Given the description of an element on the screen output the (x, y) to click on. 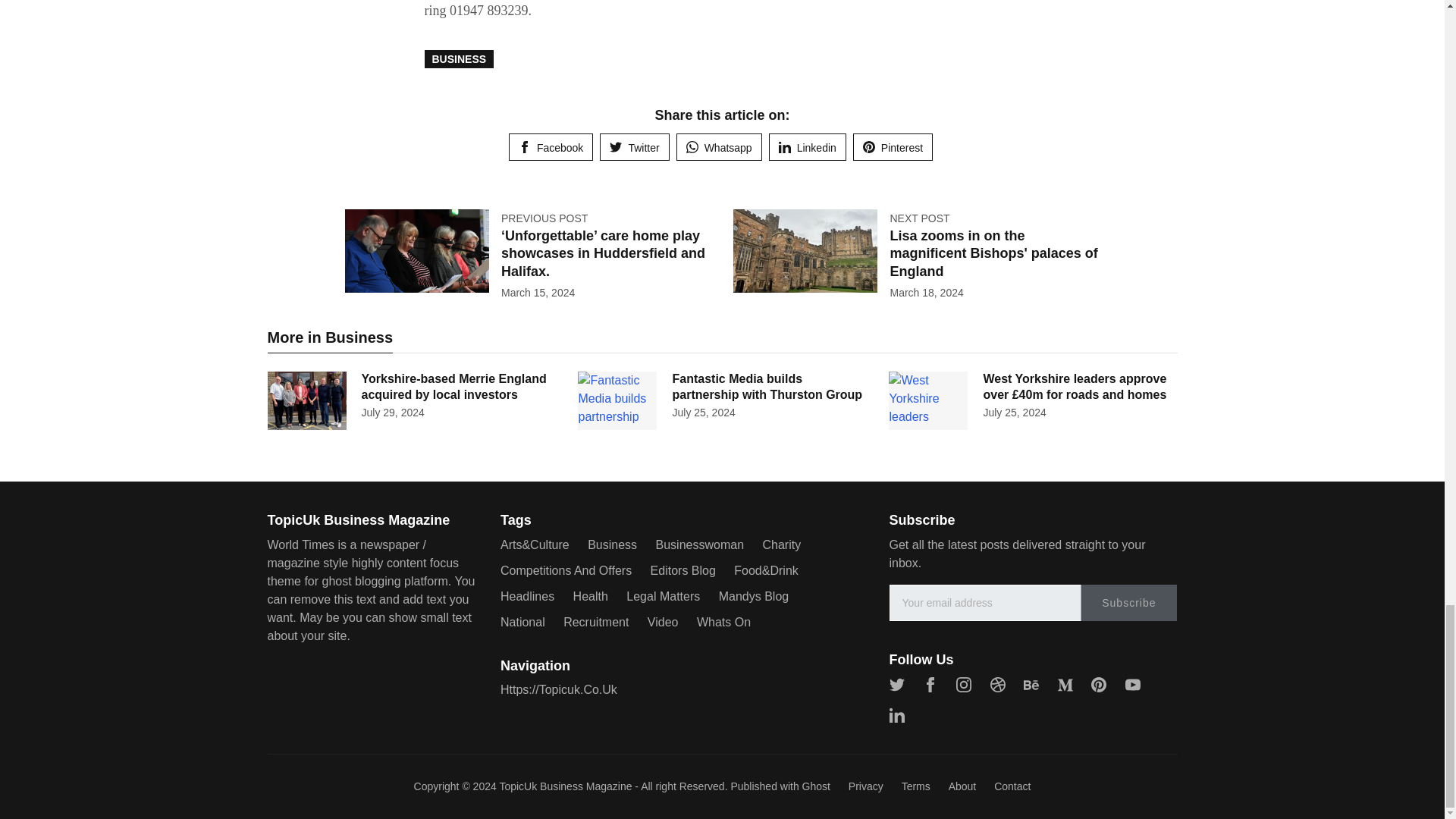
Share on Linkedin (806, 146)
Facebook (550, 146)
Twitter (633, 146)
Fantastic Media builds partnership with Thurston Group (766, 386)
Pinterest (893, 146)
Share on Facebook (550, 146)
18 March, 2024 (925, 292)
Whatsapp (719, 146)
PREVIOUS POST (544, 218)
25 July, 2024 (703, 412)
Linkedin (806, 146)
29 July, 2024 (392, 412)
NEXT POST (919, 218)
Share on Twitter (633, 146)
BUSINESS (460, 58)
